Given the description of an element on the screen output the (x, y) to click on. 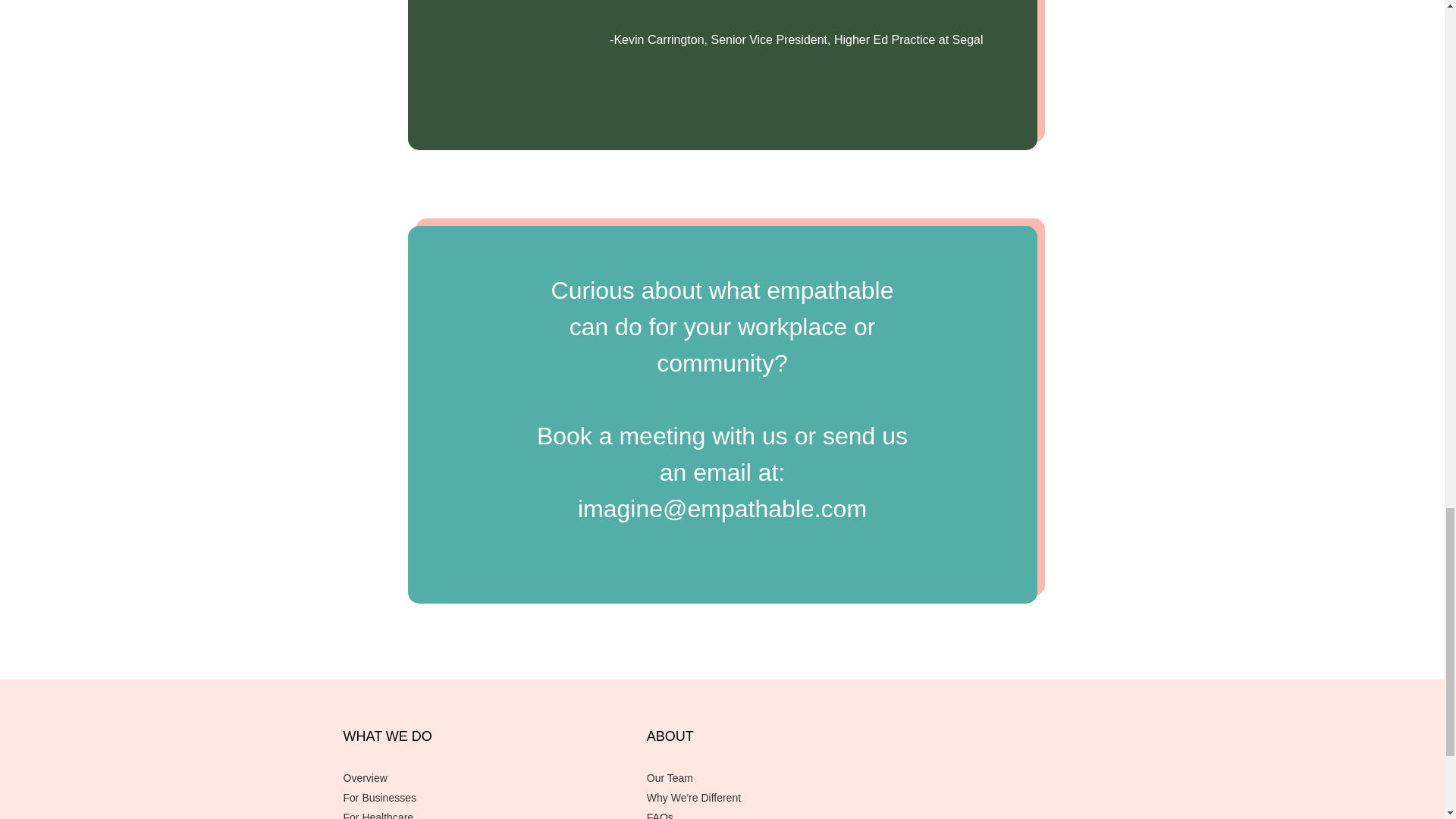
Overview (494, 778)
Why We're Different (714, 797)
Our Team (714, 778)
For Businesses (494, 797)
For Healthcare (494, 814)
FAQs (714, 814)
